Given the description of an element on the screen output the (x, y) to click on. 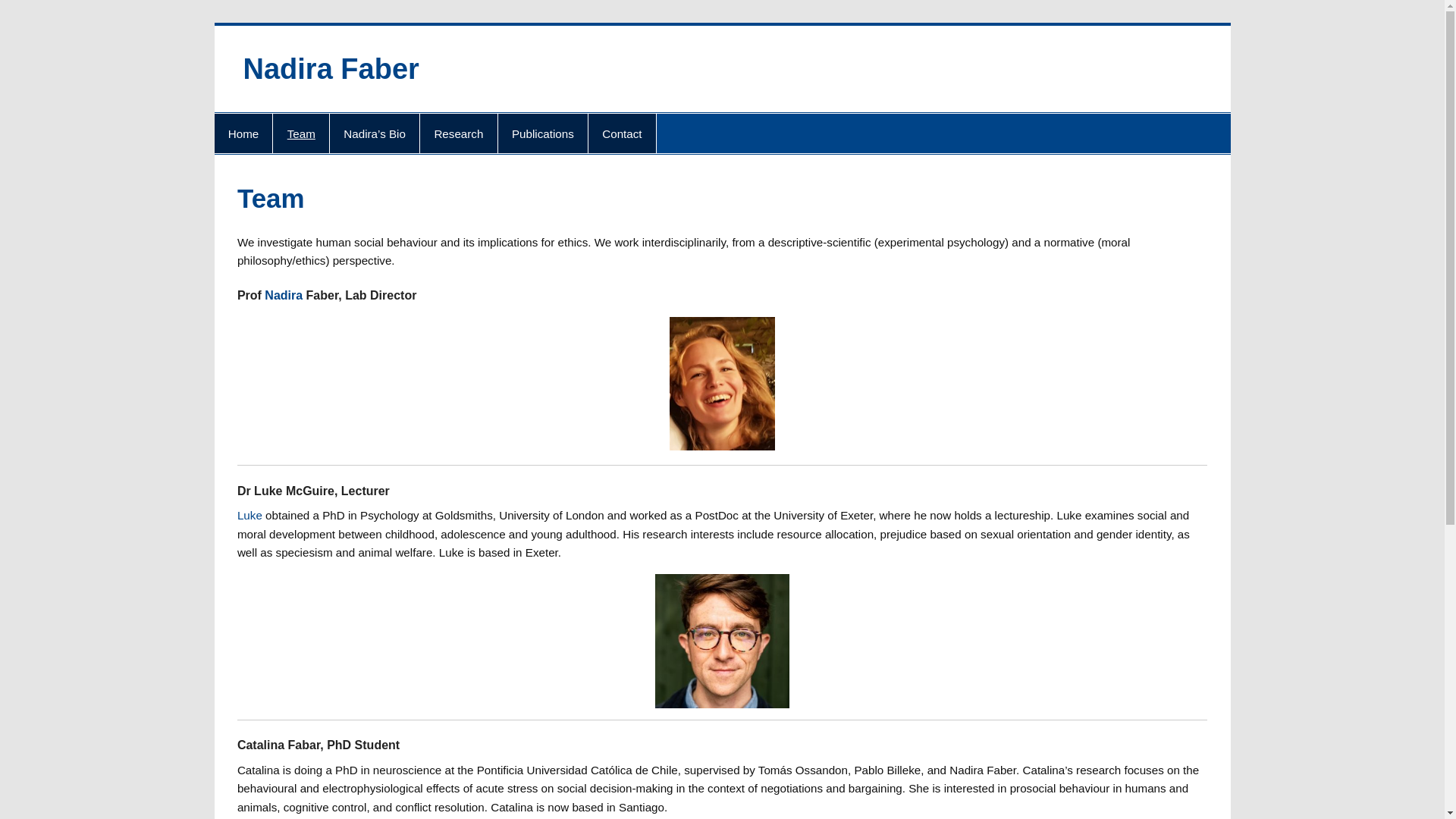
Home (243, 133)
Nadira (283, 295)
Contact (622, 133)
Nadira Faber (331, 69)
Research (458, 133)
Publications (542, 133)
Team (301, 133)
Luke (249, 514)
